Given the description of an element on the screen output the (x, y) to click on. 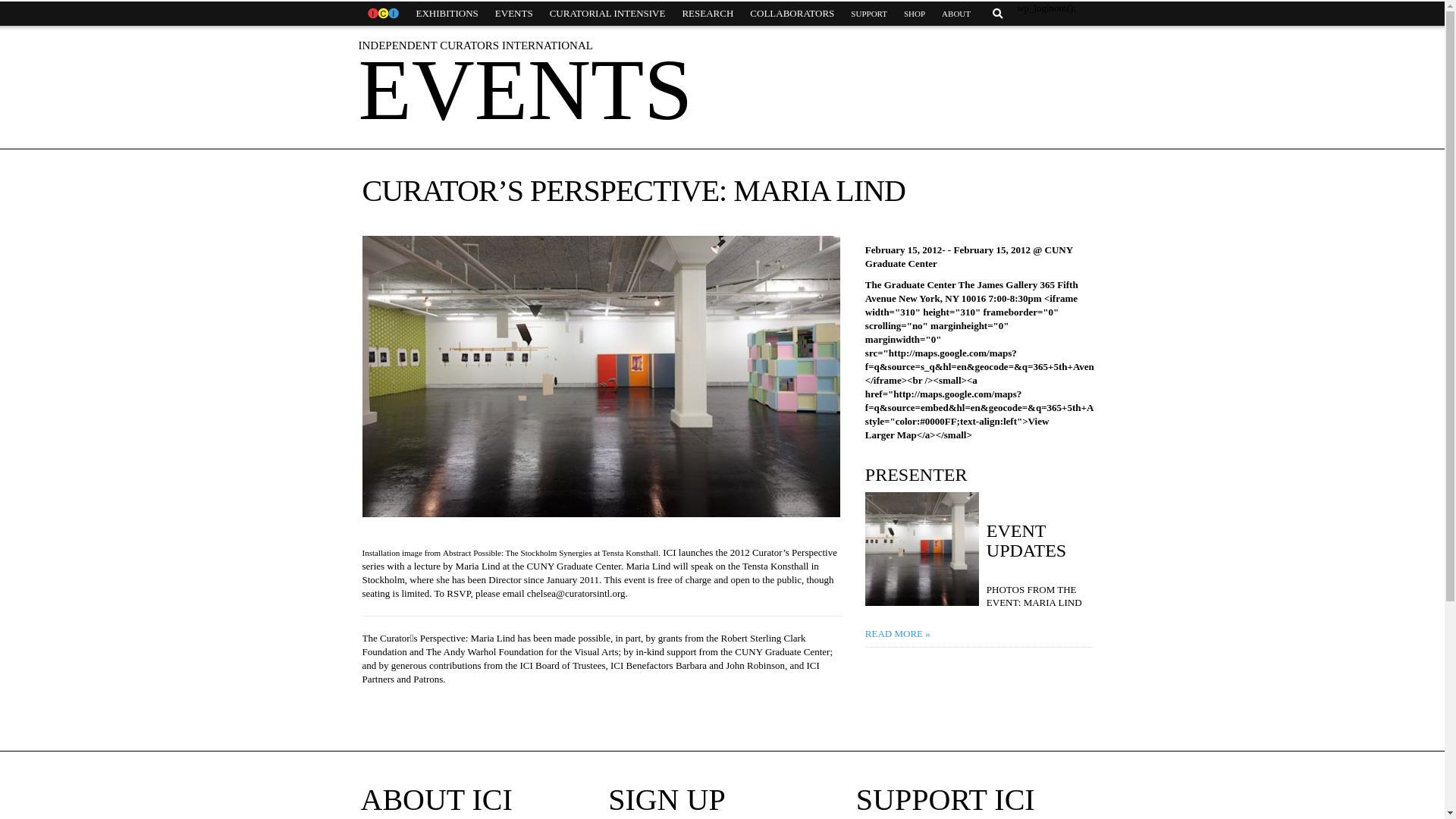
COLLABORATORS (792, 13)
RESEARCH (706, 13)
EXHIBITIONS (446, 13)
HOME (382, 13)
CURATORIAL INTENSIVE (607, 13)
EVENTS (513, 13)
